Given the description of an element on the screen output the (x, y) to click on. 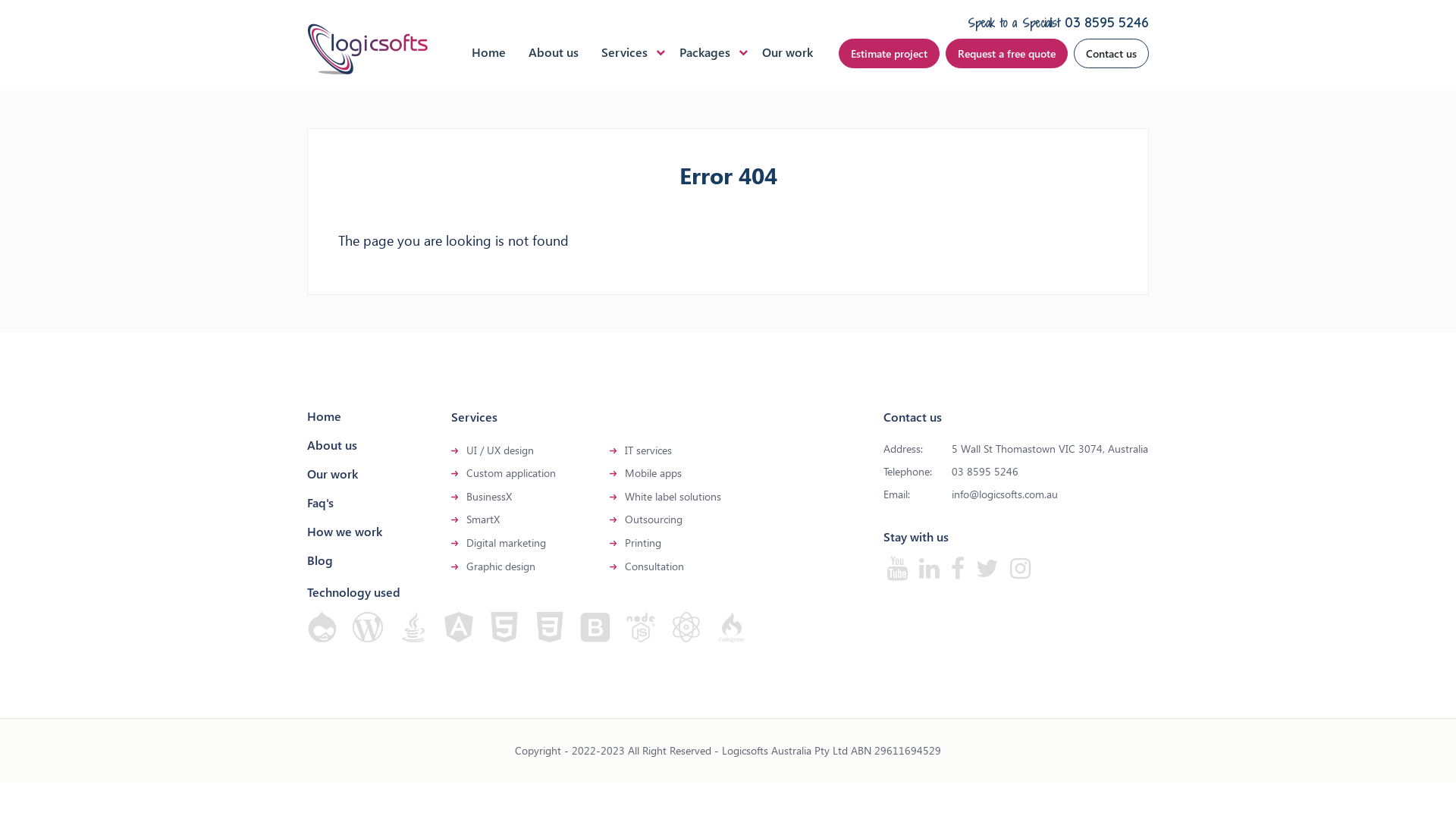
Home Element type: text (324, 415)
Contact us Element type: text (1110, 53)
03 8595 5246 Element type: text (984, 471)
About us Element type: text (332, 444)
Packages Element type: text (704, 51)
Home Element type: text (488, 51)
info@logicsofts.com.au Element type: text (1004, 493)
BusinessX Element type: text (488, 496)
03 8595 5246 Element type: text (1106, 22)
Our work Element type: text (332, 473)
How we work Element type: text (344, 531)
Consultation Element type: text (654, 565)
IT services Element type: text (647, 449)
Outsourcing Element type: text (653, 518)
White label solutions Element type: text (672, 496)
About us Element type: text (553, 51)
Services Element type: text (624, 51)
SmartX Element type: text (482, 518)
Graphic design Element type: text (500, 565)
Digital marketing Element type: text (506, 542)
Request a free quote Element type: text (1006, 53)
Mobile apps Element type: text (652, 472)
Our work Element type: text (787, 51)
Faq's Element type: text (320, 502)
Custom application Element type: text (510, 472)
Blog Element type: text (319, 559)
Printing Element type: text (642, 542)
UI / UX design Element type: text (499, 449)
Estimate project Element type: text (888, 53)
